Given the description of an element on the screen output the (x, y) to click on. 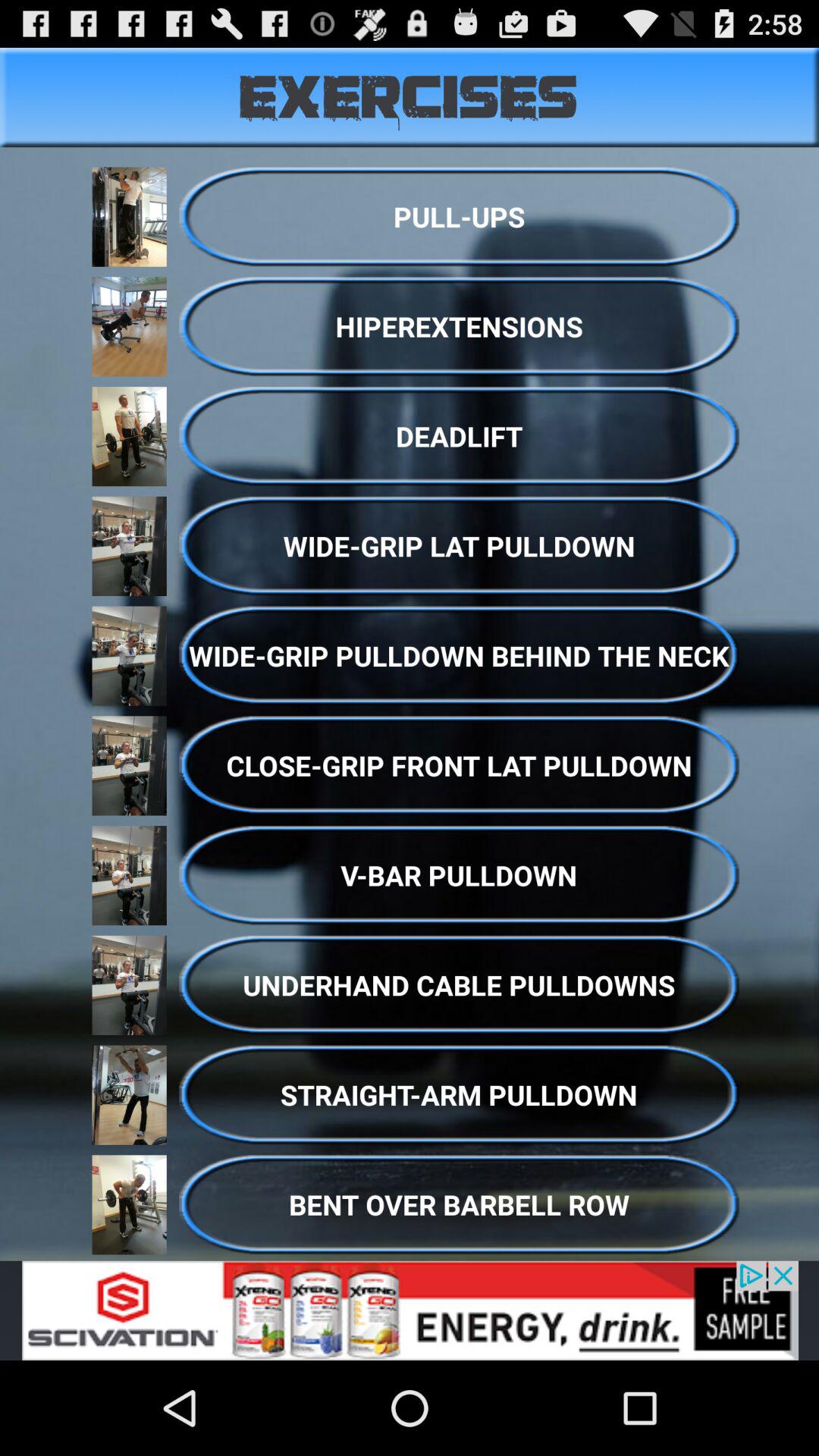
link to advertisement (409, 1310)
